Given the description of an element on the screen output the (x, y) to click on. 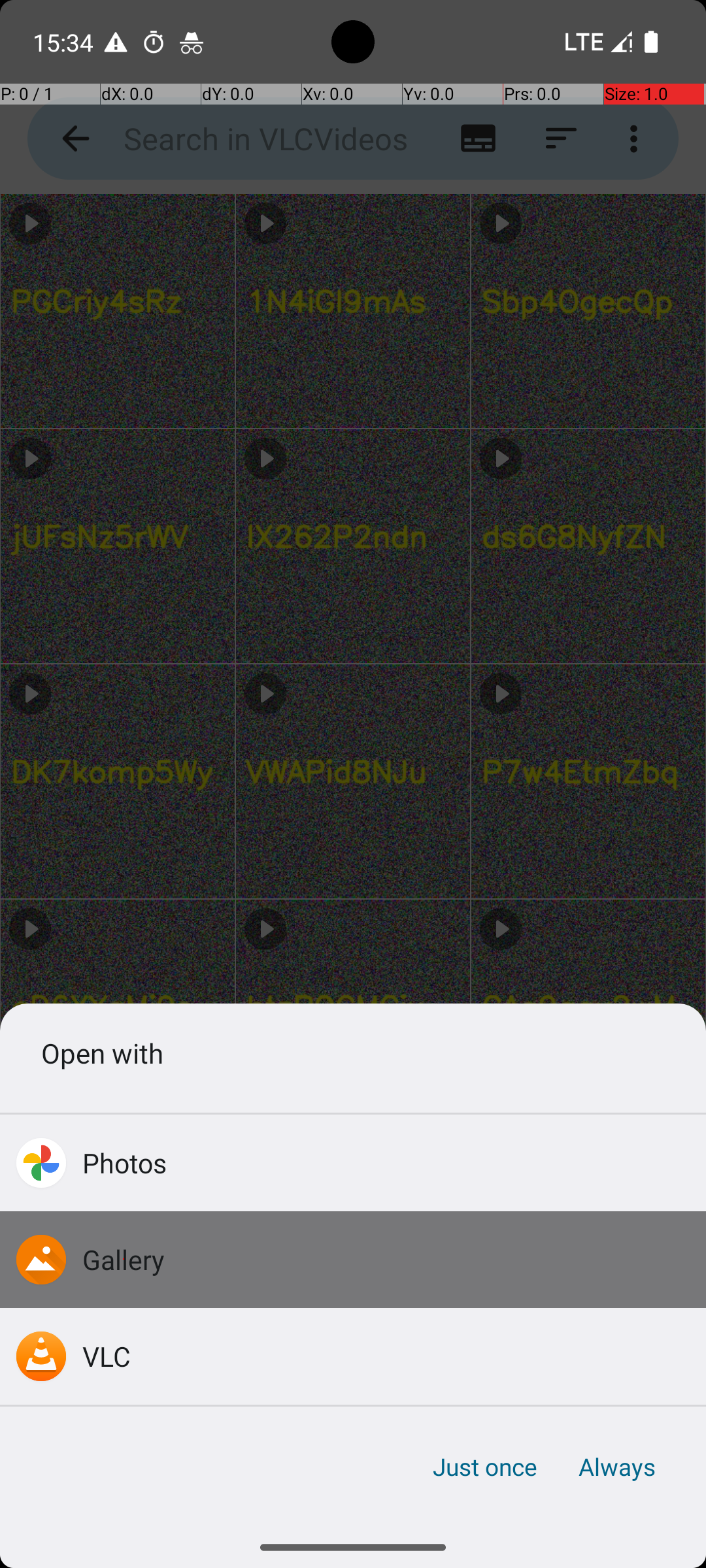
Open with Element type: android.widget.TextView (352, 1052)
Just once Element type: android.widget.Button (484, 1466)
